Given the description of an element on the screen output the (x, y) to click on. 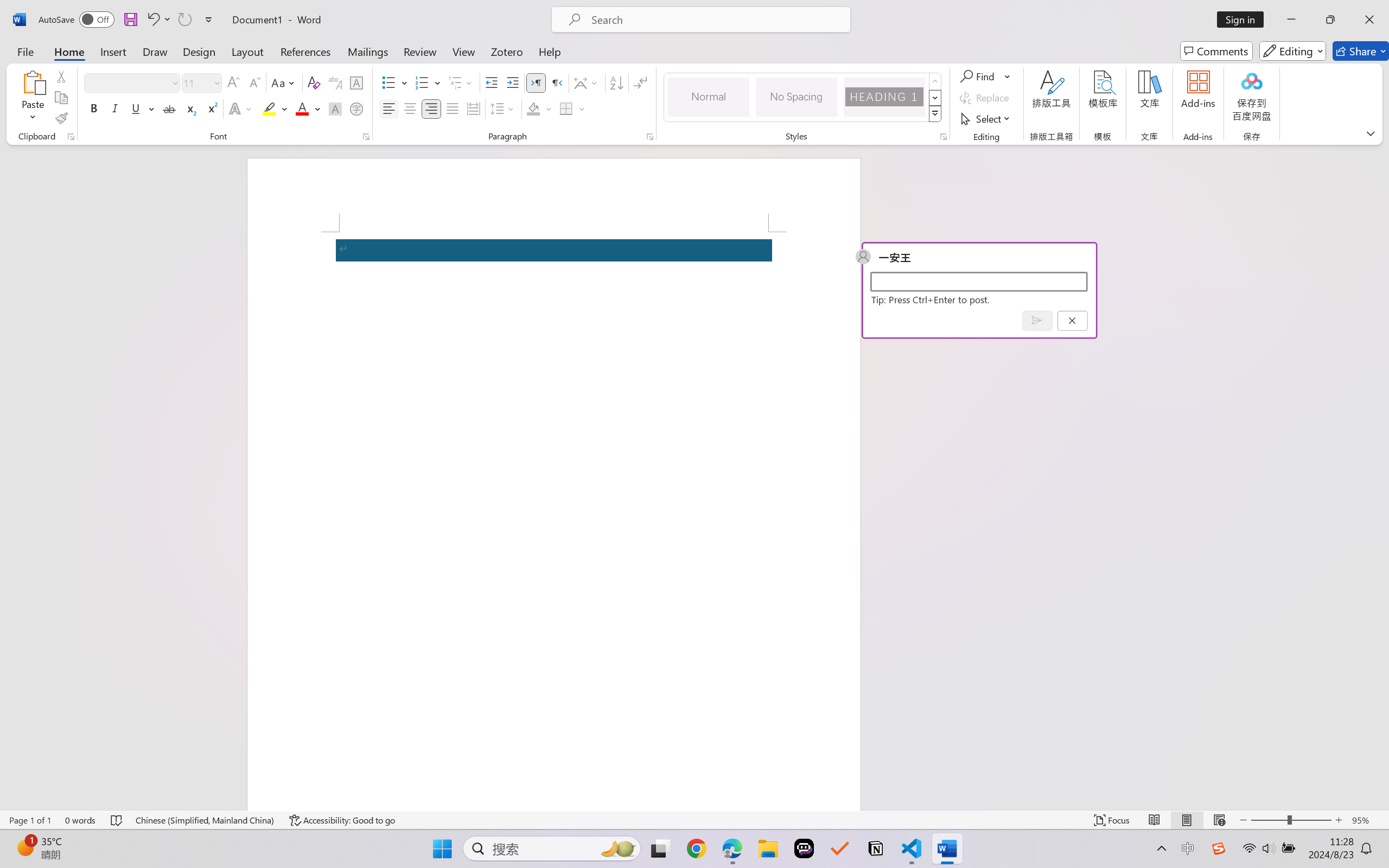
Text Highlight Color RGB(255, 255, 0) (269, 108)
Shading No Color (533, 108)
